Given the description of an element on the screen output the (x, y) to click on. 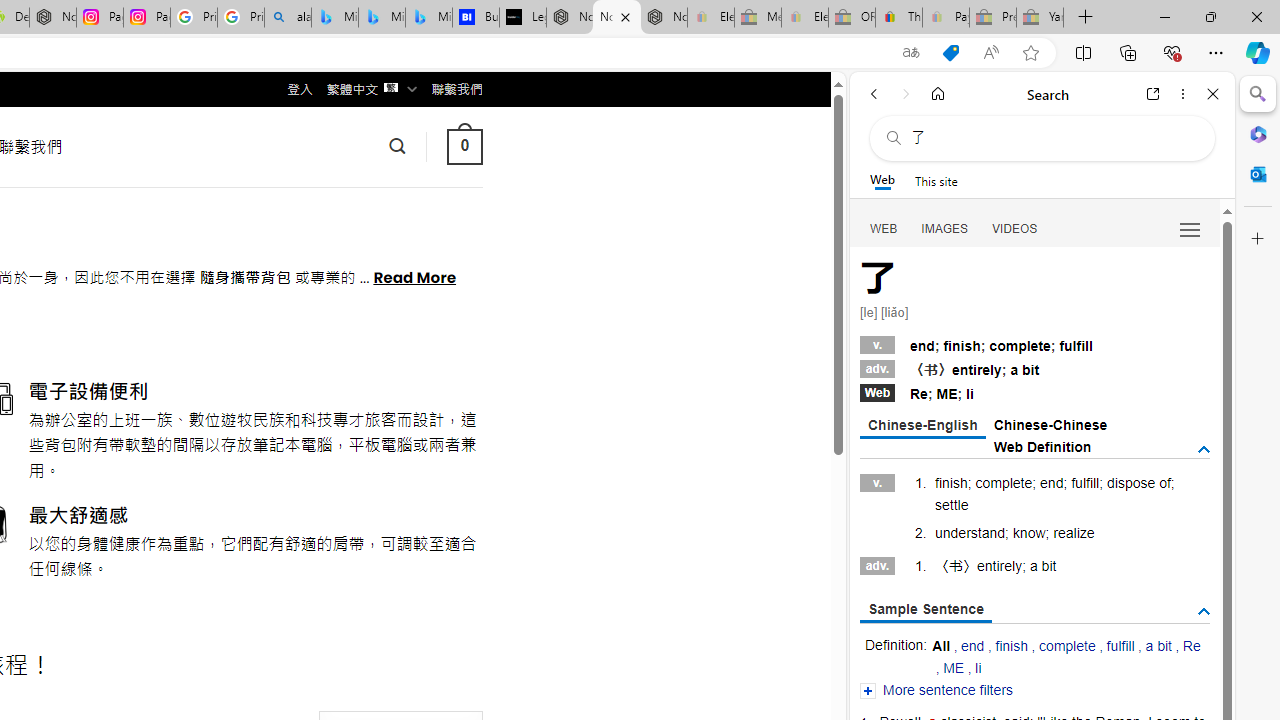
fulfill (1120, 645)
ME (954, 667)
end (973, 645)
Payments Terms of Use | eBay.com - Sleeping (945, 17)
WebRe; ME; li (1034, 391)
v.end; finish; complete; fulfill (1034, 343)
